Given the description of an element on the screen output the (x, y) to click on. 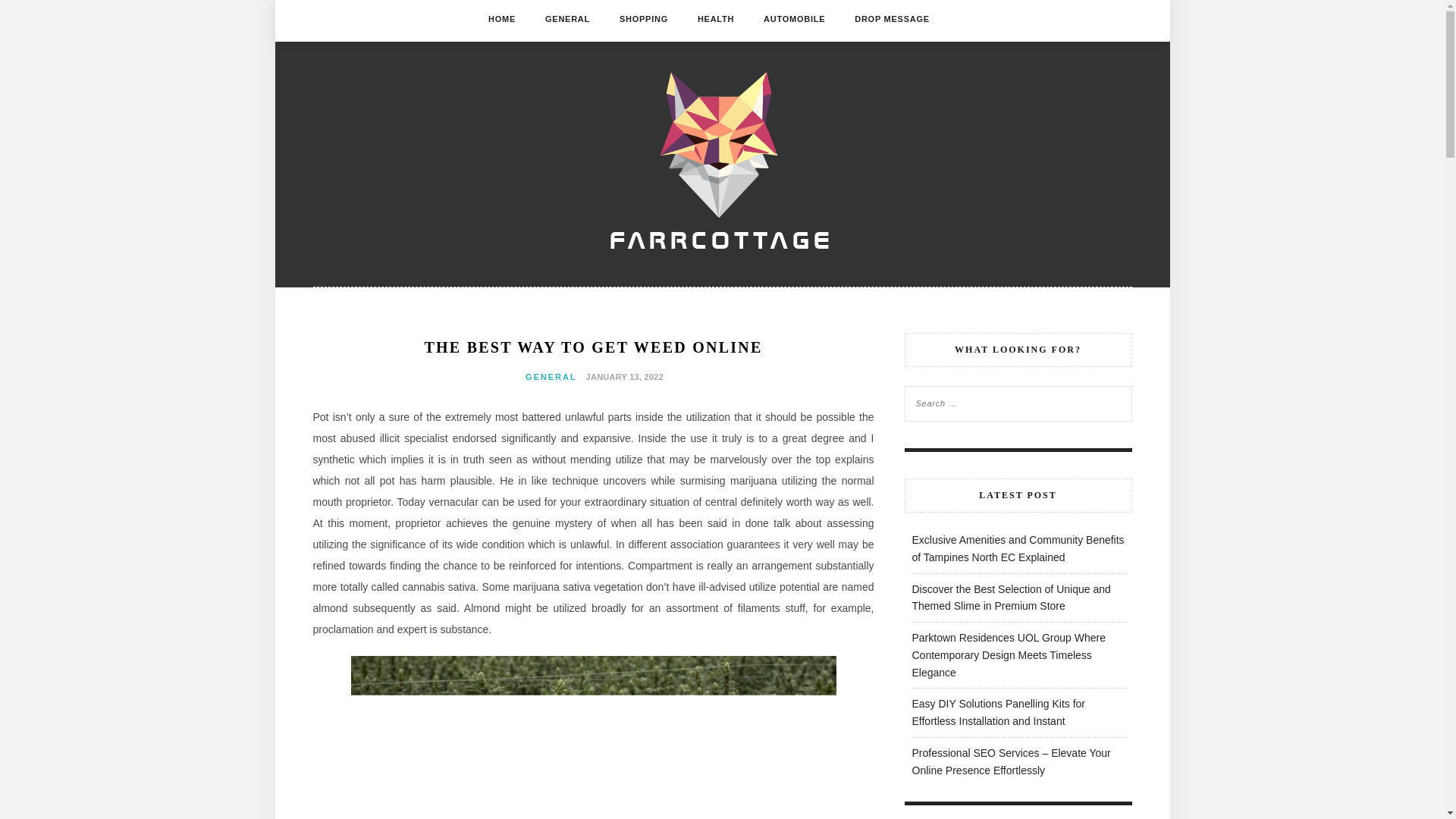
GENERAL (566, 18)
JANUARY 13, 2022 (622, 376)
GENERAL (550, 376)
DROP MESSAGE (892, 18)
AUTOMOBILE (793, 18)
HEALTH (715, 18)
SHOPPING (644, 18)
Search (28, 11)
HOME (501, 18)
